Given the description of an element on the screen output the (x, y) to click on. 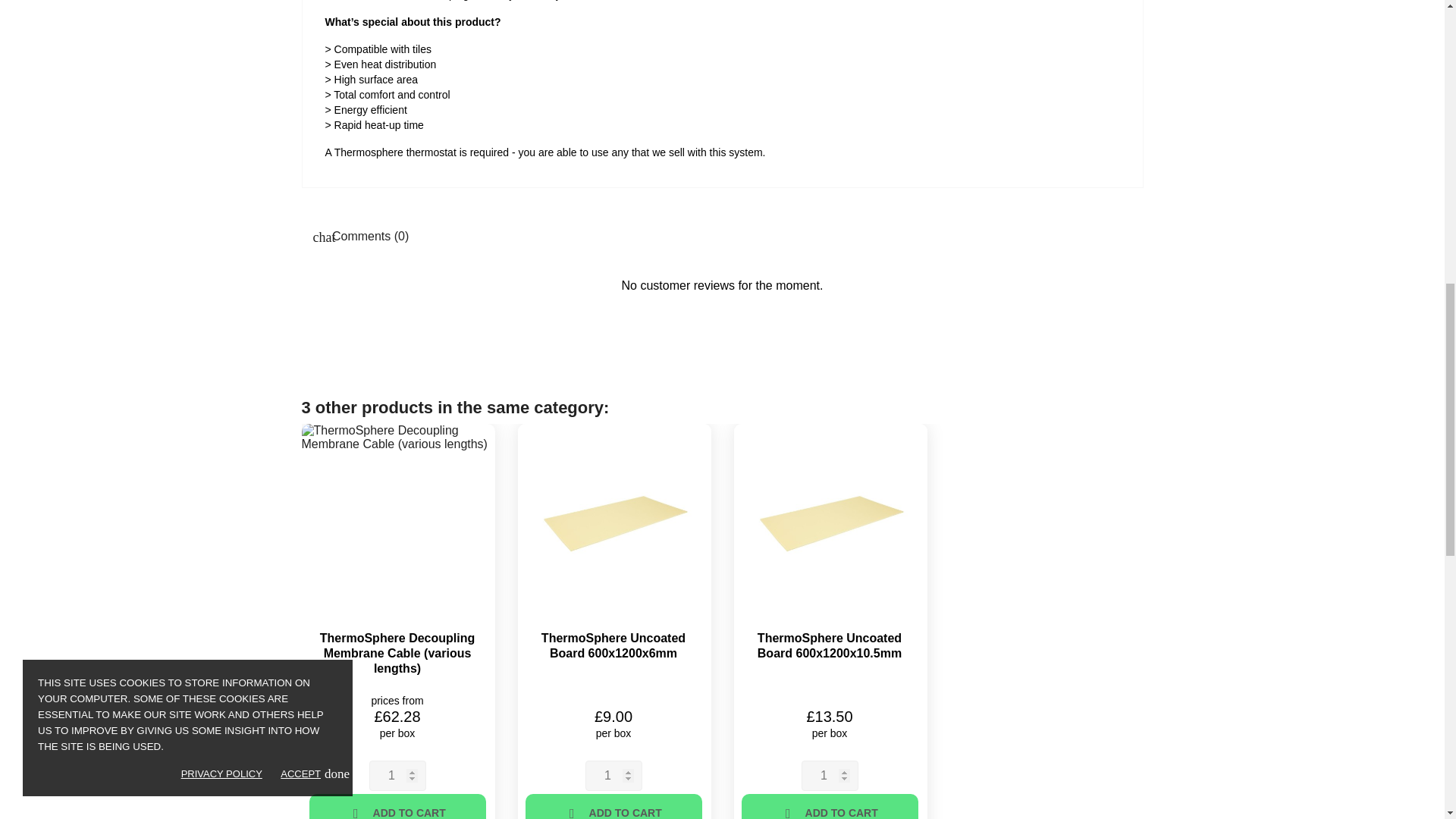
1 (613, 775)
1 (828, 775)
1 (396, 775)
